Given the description of an element on the screen output the (x, y) to click on. 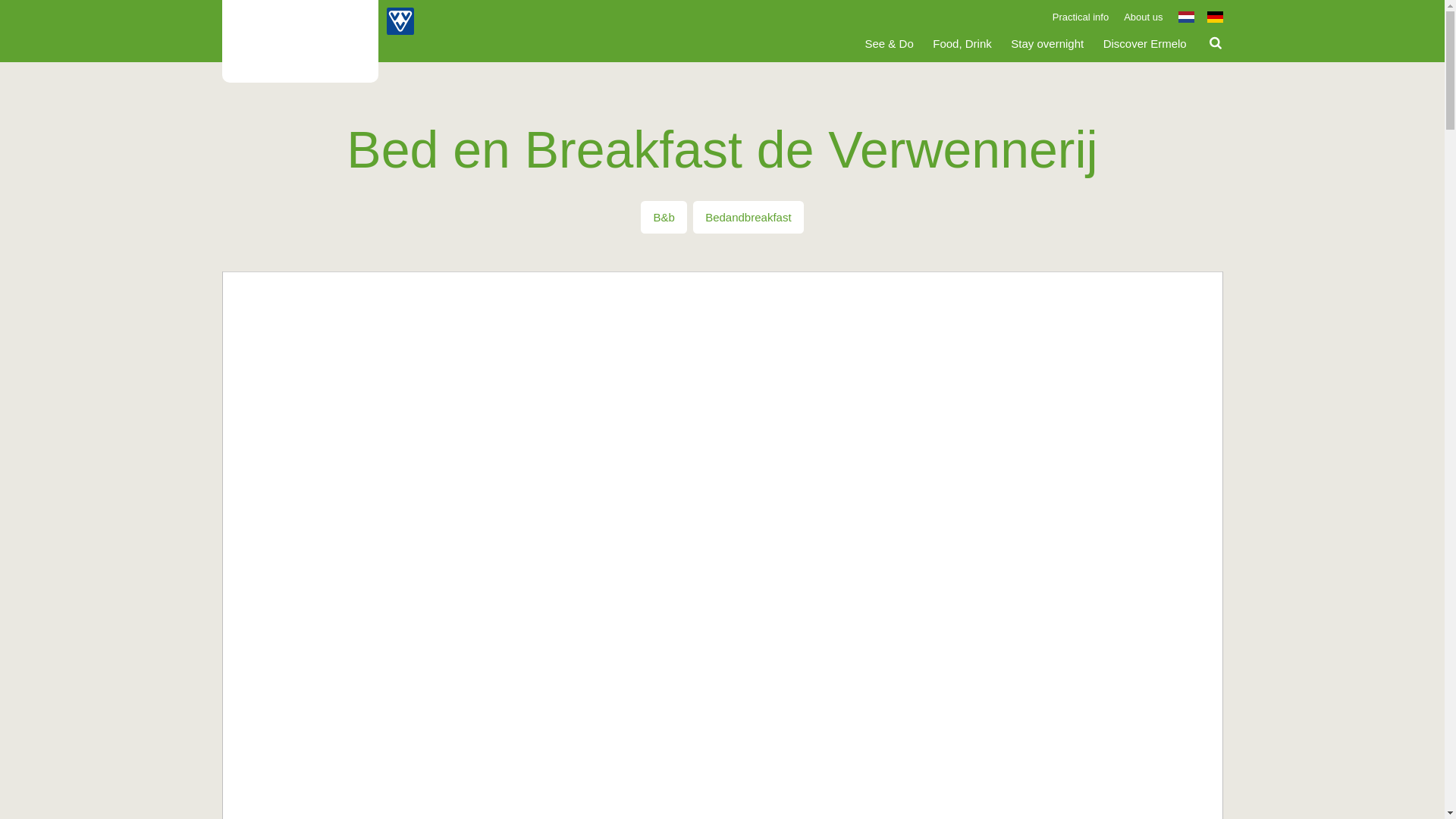
About us (1142, 16)
Practical info (1080, 16)
Food, Drink (962, 43)
Stay overnight (1047, 43)
Discover Ermelo (1144, 43)
